Given the description of an element on the screen output the (x, y) to click on. 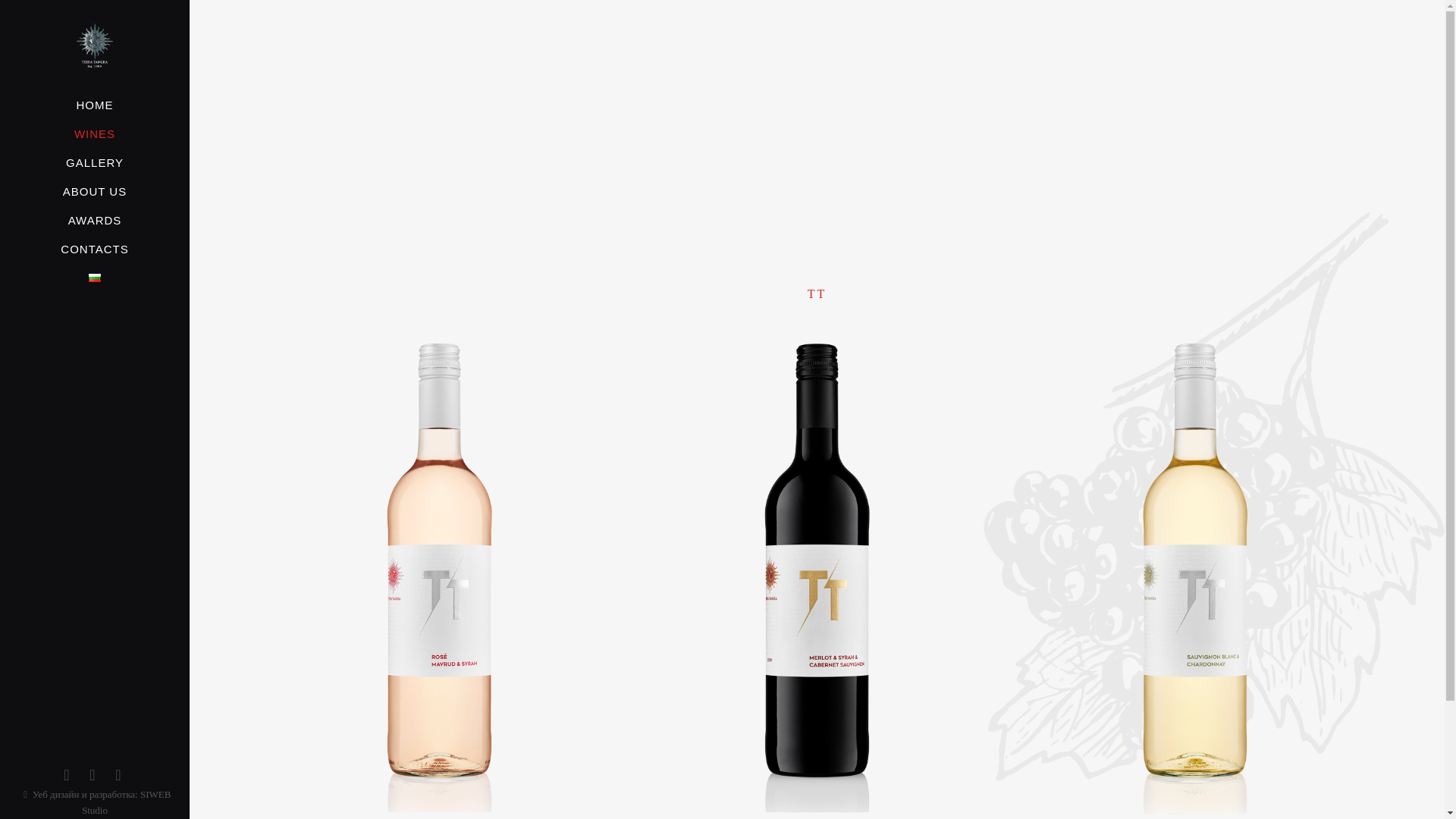
Instagram (118, 774)
YouTube (92, 774)
WINES (94, 133)
ABOUT US (94, 191)
HOME (94, 104)
AWARDS (94, 220)
CONTACTS (94, 249)
Terra Tangra (94, 45)
GALLERY (94, 162)
Facebook (66, 774)
